Given the description of an element on the screen output the (x, y) to click on. 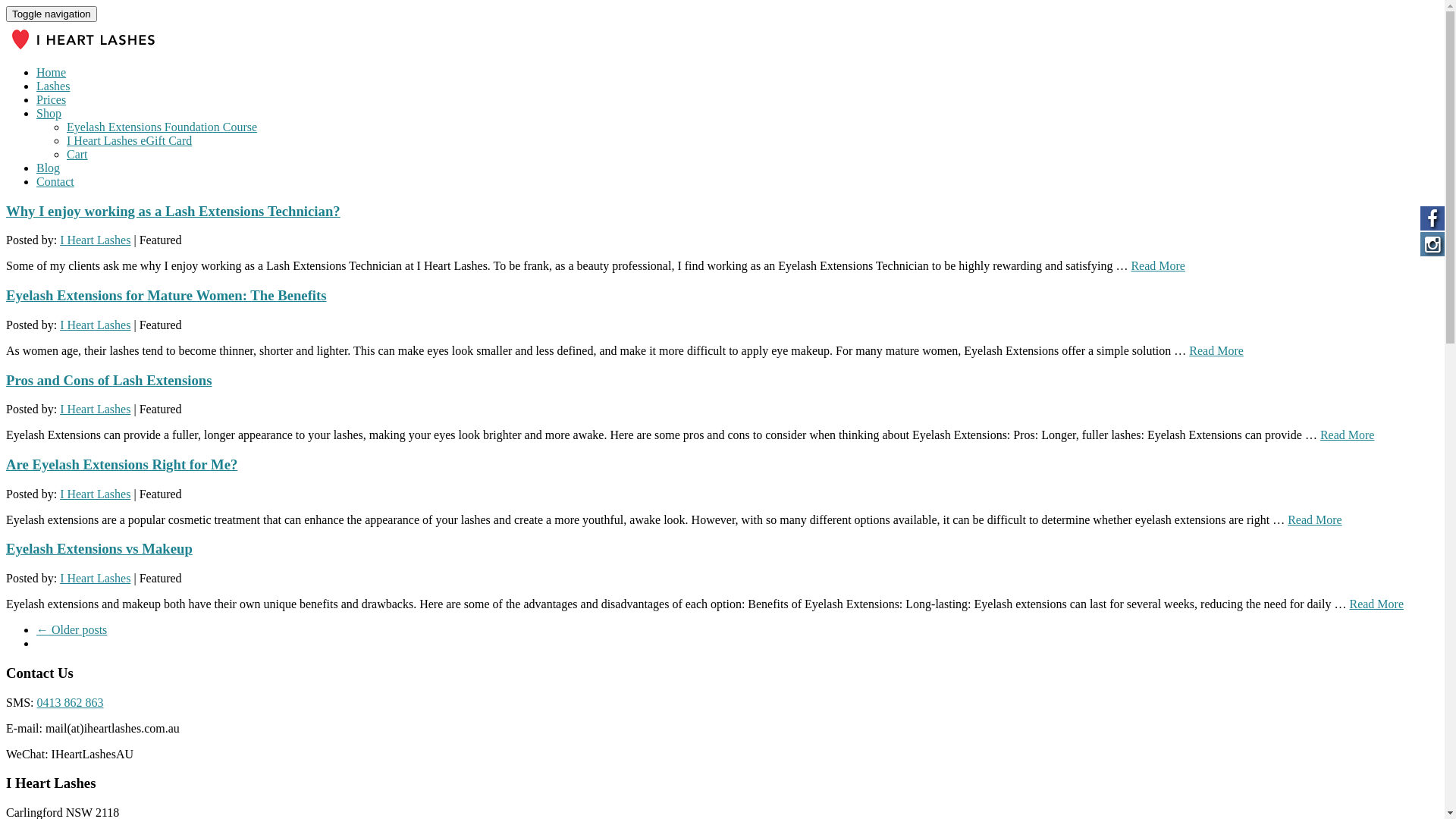
I Heart Lashes Element type: text (94, 577)
Pros and Cons of Lash Extensions Element type: text (108, 380)
Eyelash Extensions Foundation Course Element type: text (161, 126)
Prices Element type: text (50, 99)
Blog Element type: text (47, 167)
Read More Element type: text (1216, 350)
Eyelash Extensions for Mature Women: The Benefits Element type: text (166, 295)
Lashes Element type: text (52, 85)
Read More Element type: text (1376, 603)
Shop Element type: text (48, 112)
Eyelash Extensions vs Makeup Element type: text (99, 548)
Read More Element type: text (1157, 265)
I Heart Lashes Element type: text (94, 493)
I Heart Lashes Element type: text (94, 408)
Home Element type: text (50, 71)
Read More Element type: text (1347, 434)
Read More Element type: text (1314, 519)
0413 862 863 Element type: text (69, 702)
I Heart Lashes eGift Card Element type: text (128, 140)
Contact Element type: text (55, 181)
Toggle navigation Element type: text (51, 13)
Cart Element type: text (76, 153)
I Heart Lashes Element type: text (94, 324)
Why I enjoy working as a Lash Extensions Technician? Element type: text (173, 211)
I Heart Lashes Element type: text (94, 239)
Are Eyelash Extensions Right for Me? Element type: text (121, 464)
